Given the description of an element on the screen output the (x, y) to click on. 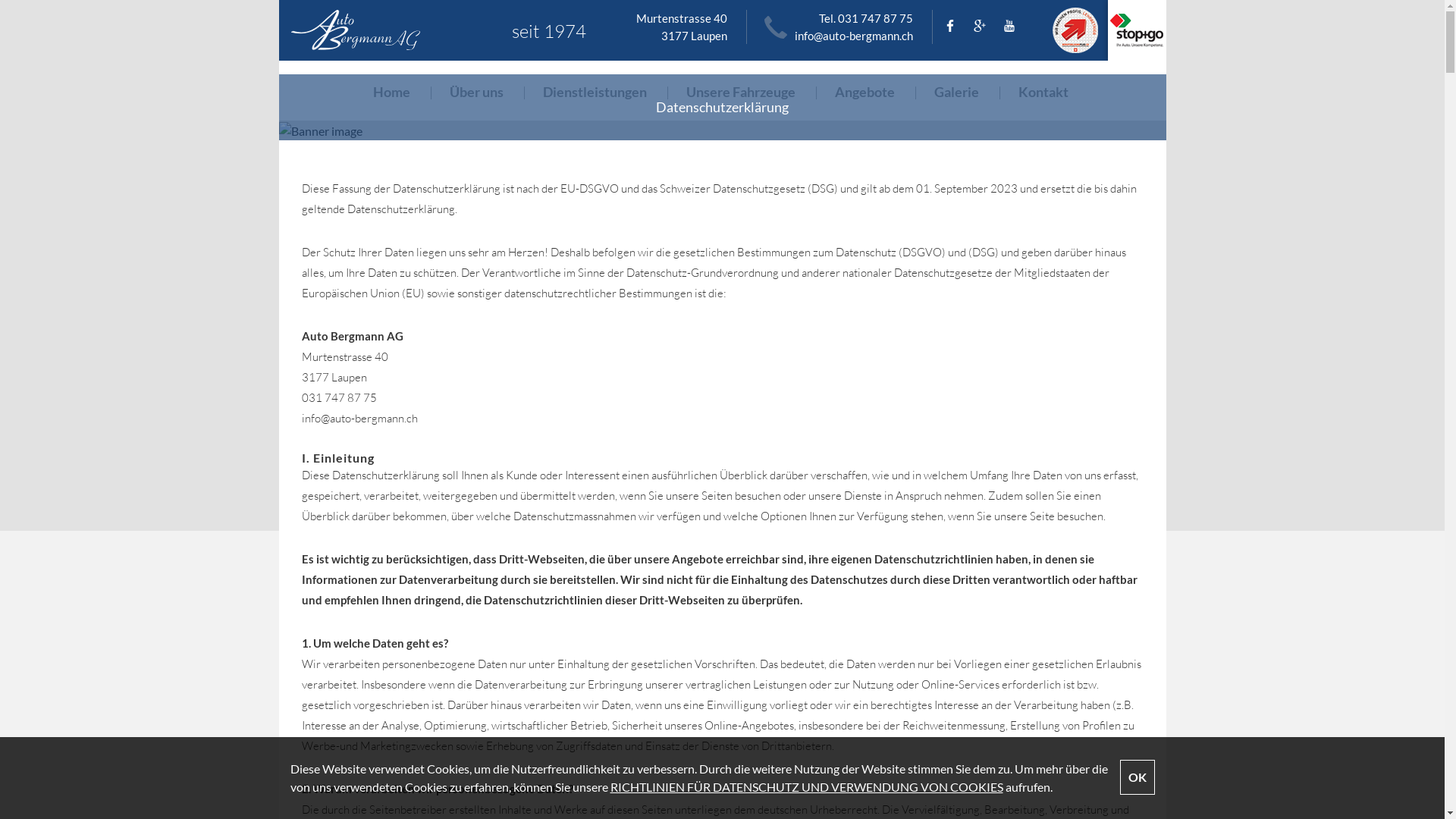
OK Element type: text (1136, 776)
info@auto-bergmann.ch Element type: text (853, 35)
info@auto-bergmann.ch Element type: text (359, 418)
Kontakt Element type: text (1043, 90)
Auto Bergmann AG Element type: text (389, 29)
Dienstleistungen Element type: text (594, 90)
Unsere Fahrzeuge Element type: text (740, 90)
Galerie Element type: text (956, 90)
Angebote Element type: text (864, 90)
Home Element type: text (391, 90)
